Given the description of an element on the screen output the (x, y) to click on. 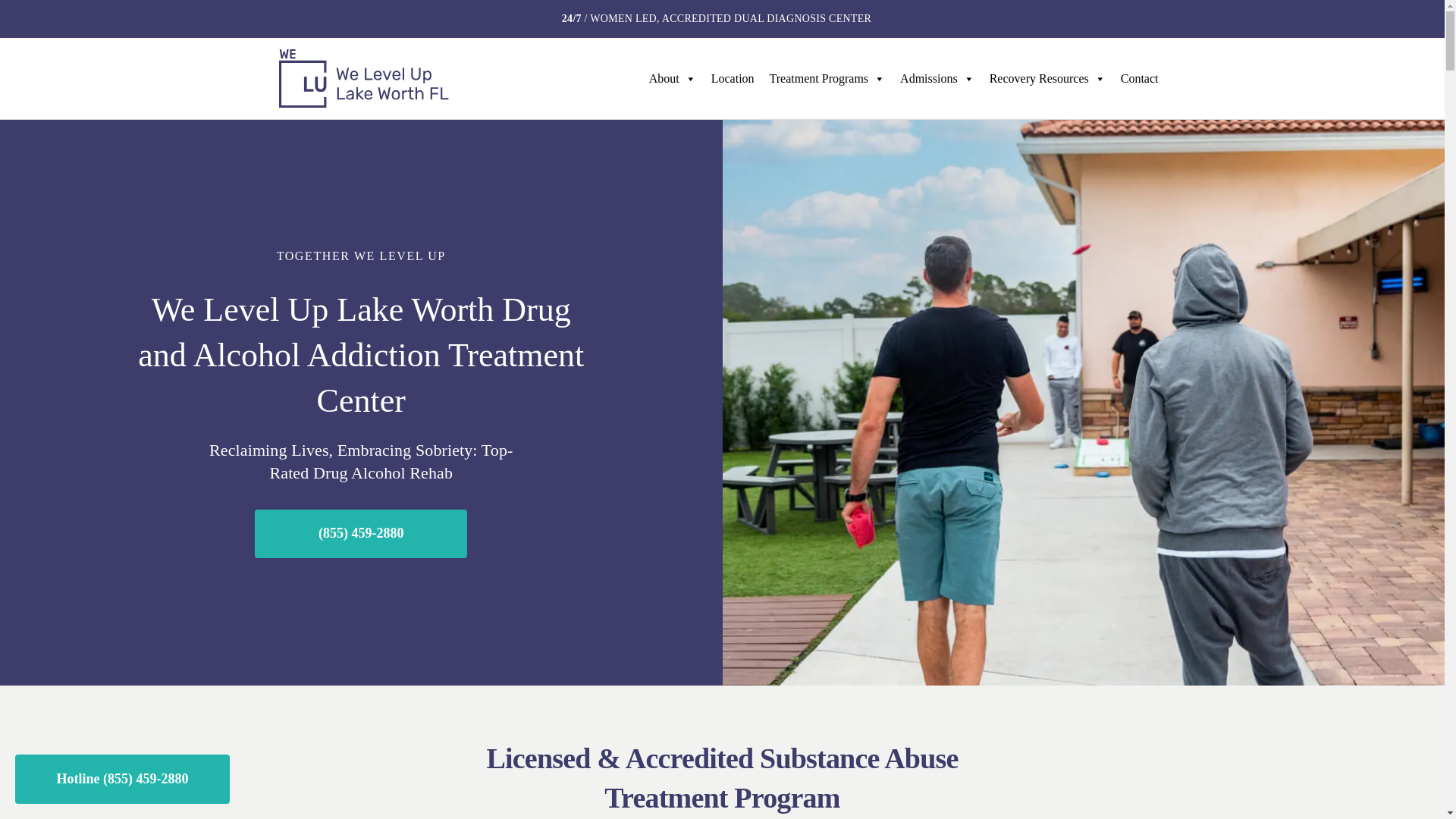
Location (732, 78)
About (672, 78)
Treatment Programs (827, 78)
